Given the description of an element on the screen output the (x, y) to click on. 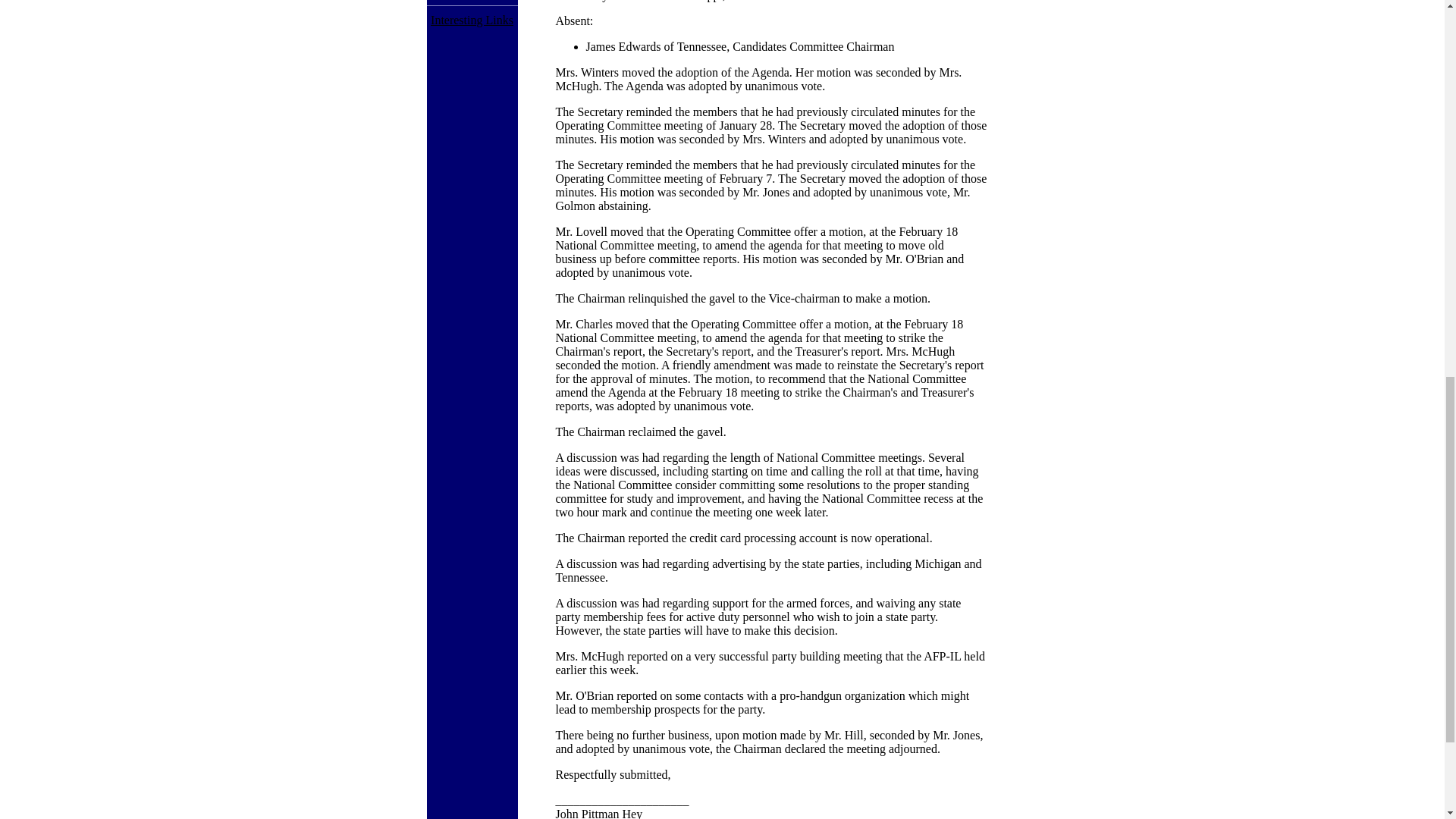
Interesting Links (471, 19)
